Given the description of an element on the screen output the (x, y) to click on. 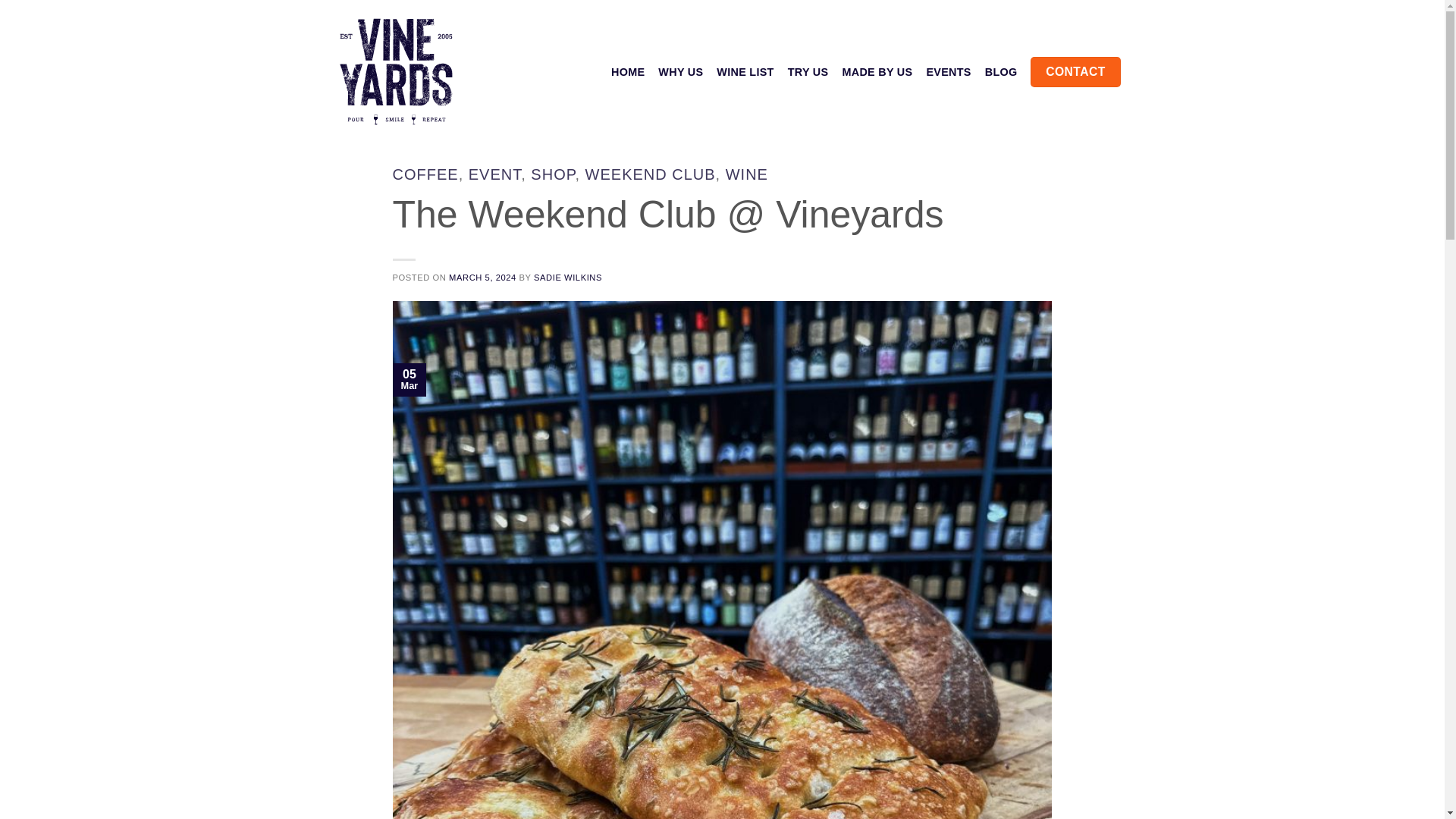
EVENTS (948, 71)
COFFEE (425, 174)
MARCH 5, 2024 (482, 276)
SADIE WILKINS (568, 276)
WINE (746, 174)
HOME (628, 71)
Vineyards - Dorset's Indie Wine Merchant (400, 72)
MADE BY US (876, 71)
EVENT (494, 174)
CONTACT (1074, 71)
